Given the description of an element on the screen output the (x, y) to click on. 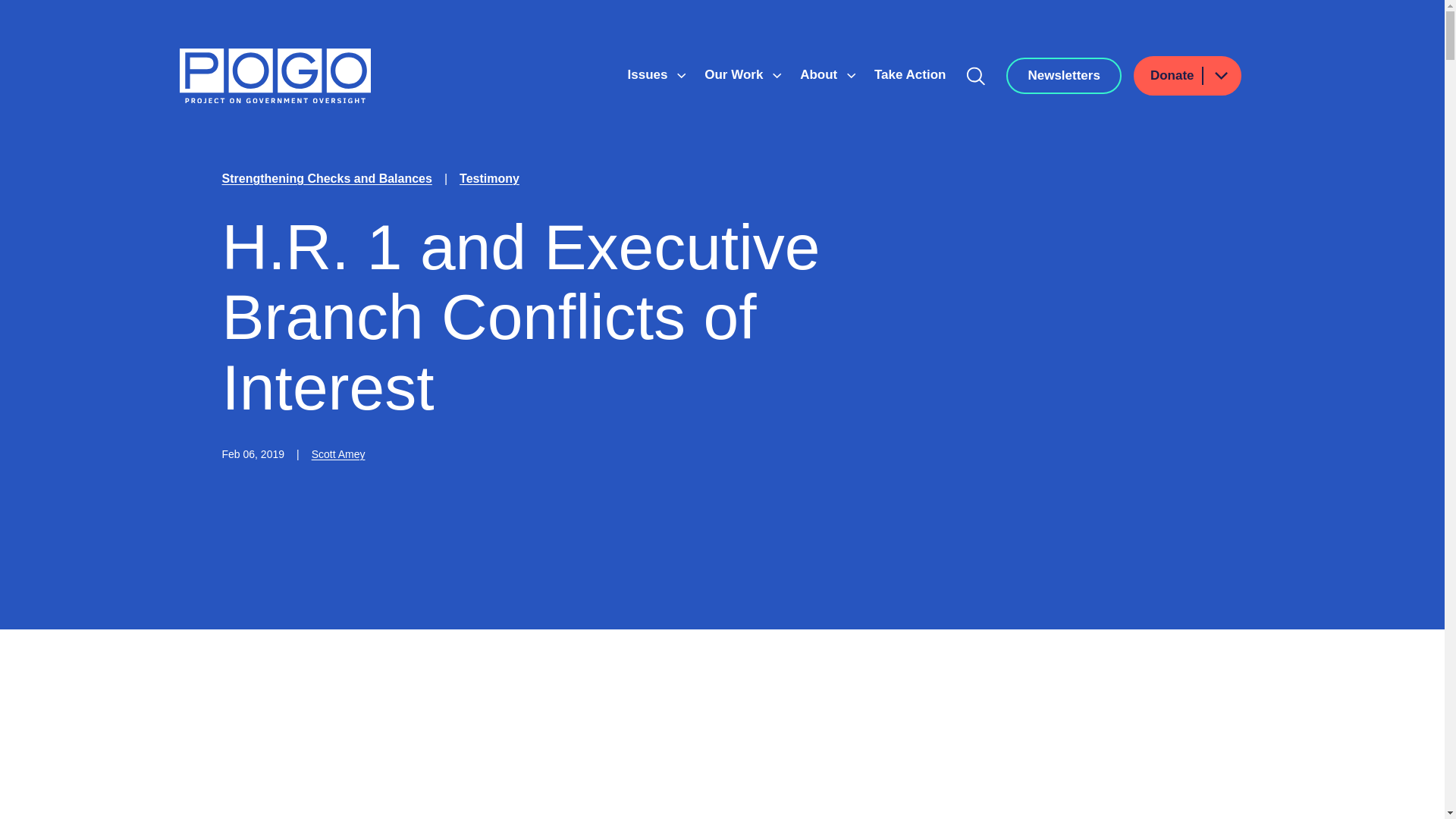
Show submenu for About (851, 75)
About (820, 74)
Search (976, 75)
Newsletters (1063, 75)
Our Work (735, 74)
Take Action (909, 74)
Donate (1187, 75)
Show submenu for Our Work (777, 75)
Issues (649, 74)
Show submenu for Donate (1220, 75)
